Given the description of an element on the screen output the (x, y) to click on. 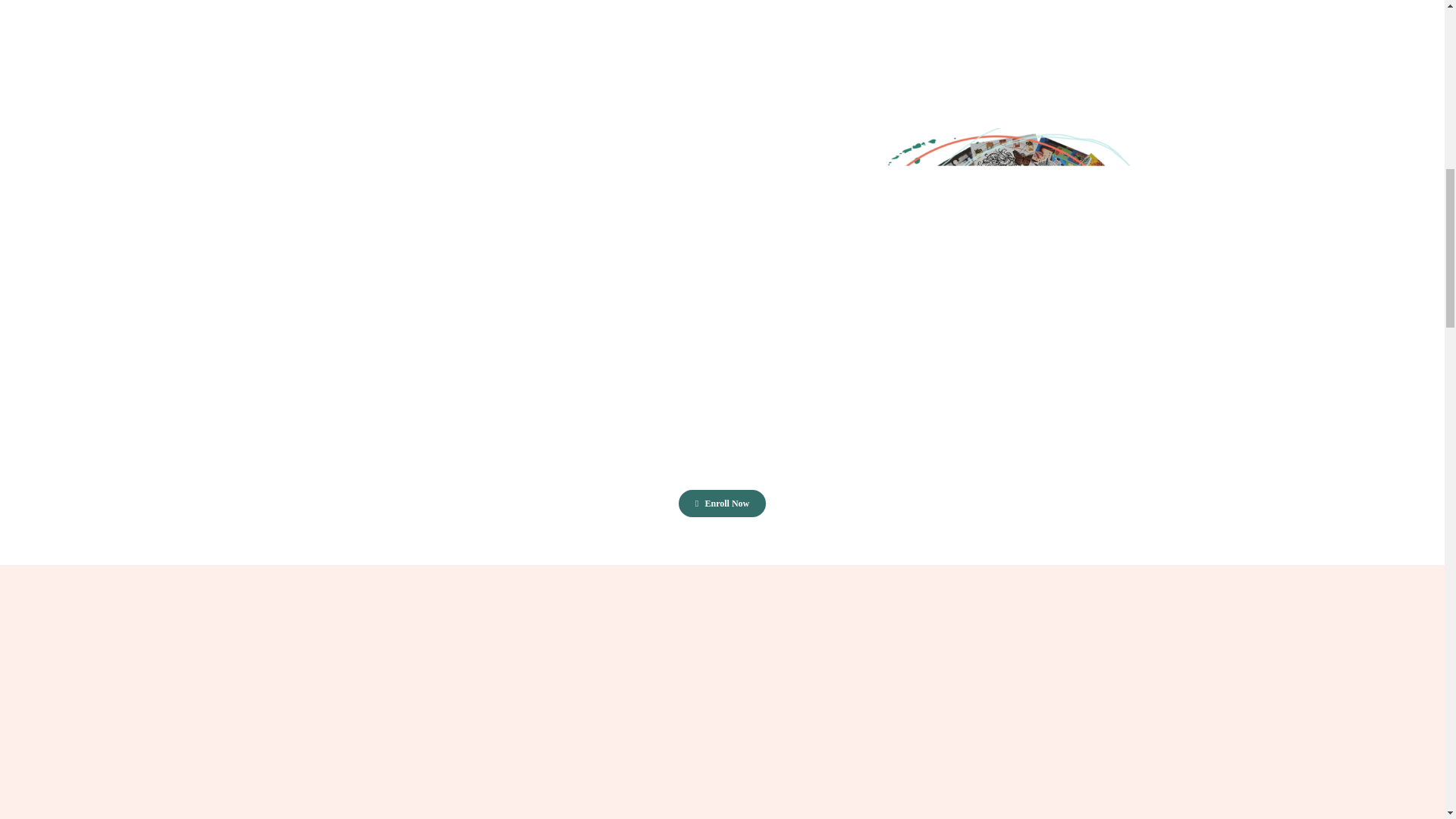
Enroll Now (722, 502)
jj creates soulcollage committee suit (1005, 291)
